Given the description of an element on the screen output the (x, y) to click on. 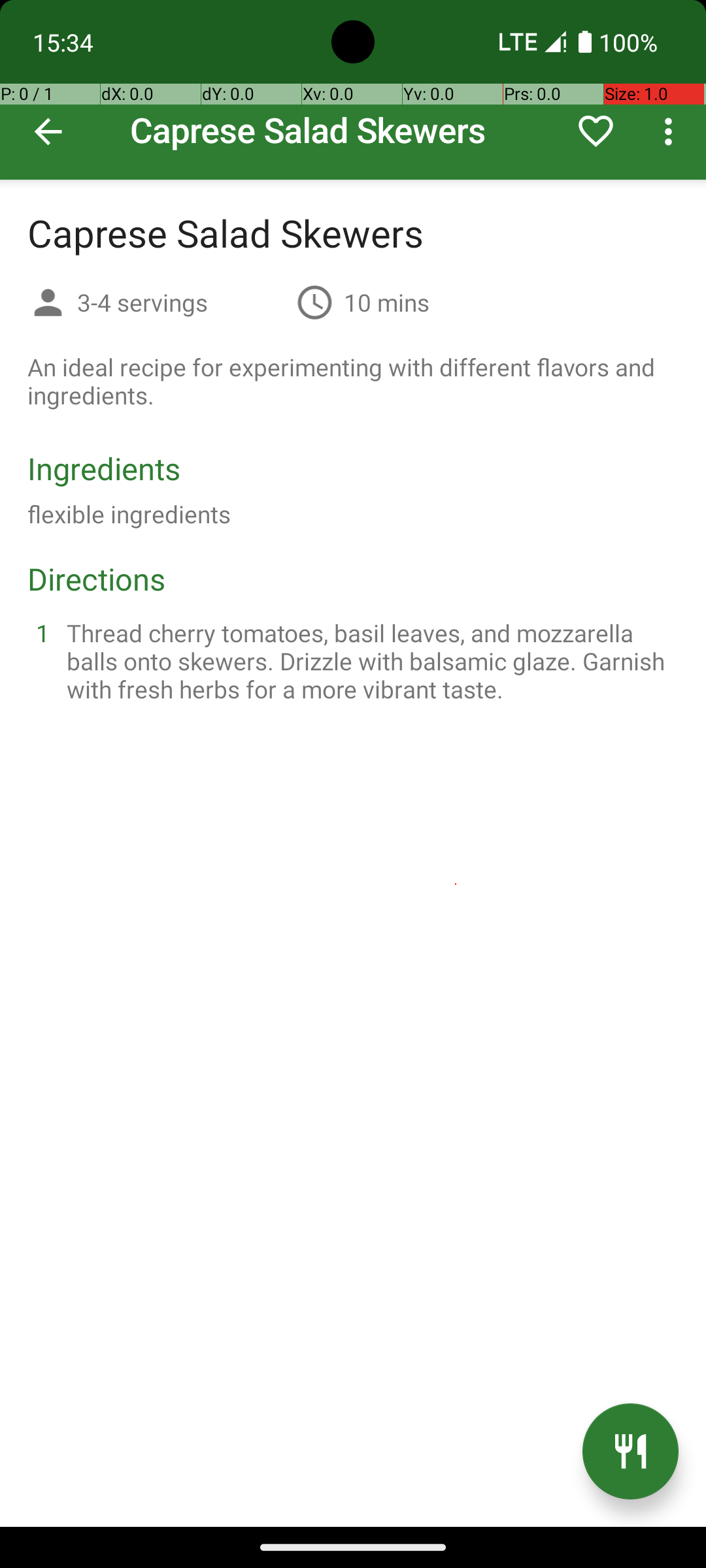
Thread cherry tomatoes, basil leaves, and mozzarella balls onto skewers. Drizzle with balsamic glaze. Garnish with fresh herbs for a more vibrant taste. Element type: android.widget.TextView (368, 660)
